Given the description of an element on the screen output the (x, y) to click on. 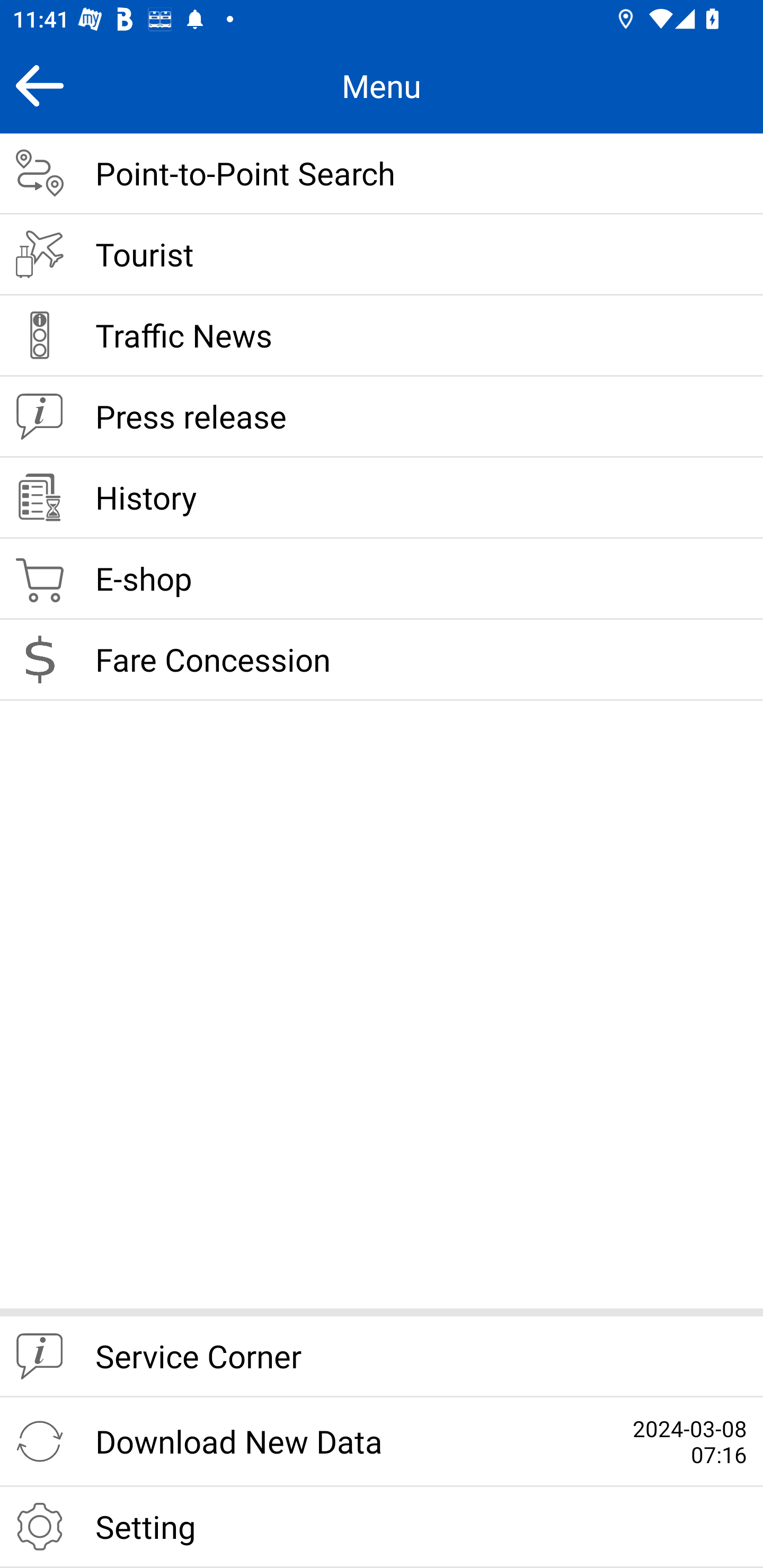
Back (39, 85)
Point-to-Point Search (381, 173)
Tourist (381, 255)
Traffic News (381, 336)
Press release (381, 416)
History (381, 498)
E-shop (381, 579)
Fare Concession (381, 659)
Service Corner (381, 1357)
Download New Data 2024-03-08
07:16 (381, 1441)
Setting (381, 1527)
